Given the description of an element on the screen output the (x, y) to click on. 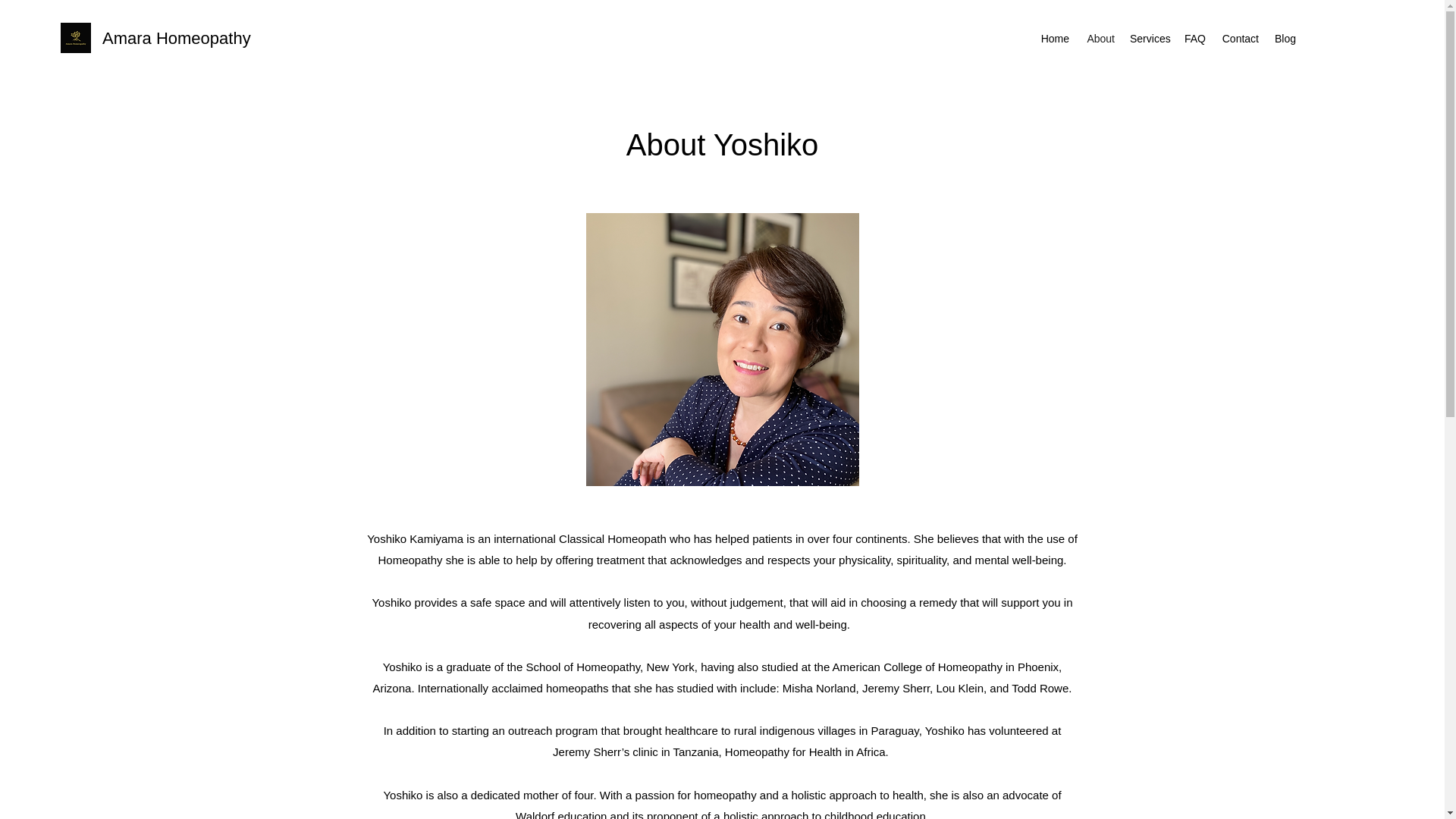
Blog (1284, 38)
Contact (1239, 38)
Home (1054, 38)
About (1099, 38)
FAQ (1194, 38)
Services (1149, 38)
Amara Homeopathy (175, 37)
